Given the description of an element on the screen output the (x, y) to click on. 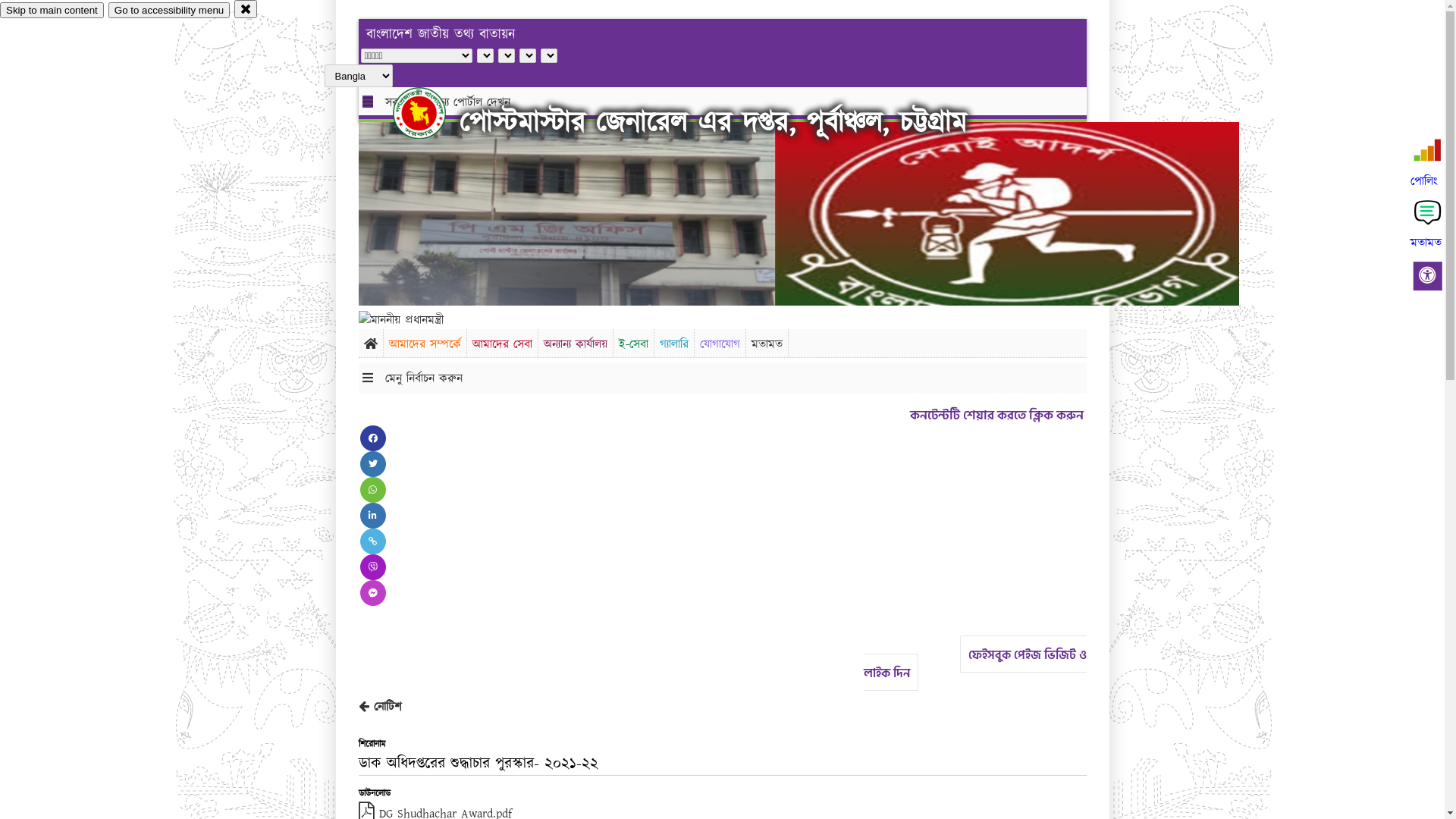
close Element type: hover (245, 9)

                
             Element type: hover (431, 112)
Go to accessibility menu Element type: text (168, 10)
Skip to main content Element type: text (51, 10)
